Given the description of an element on the screen output the (x, y) to click on. 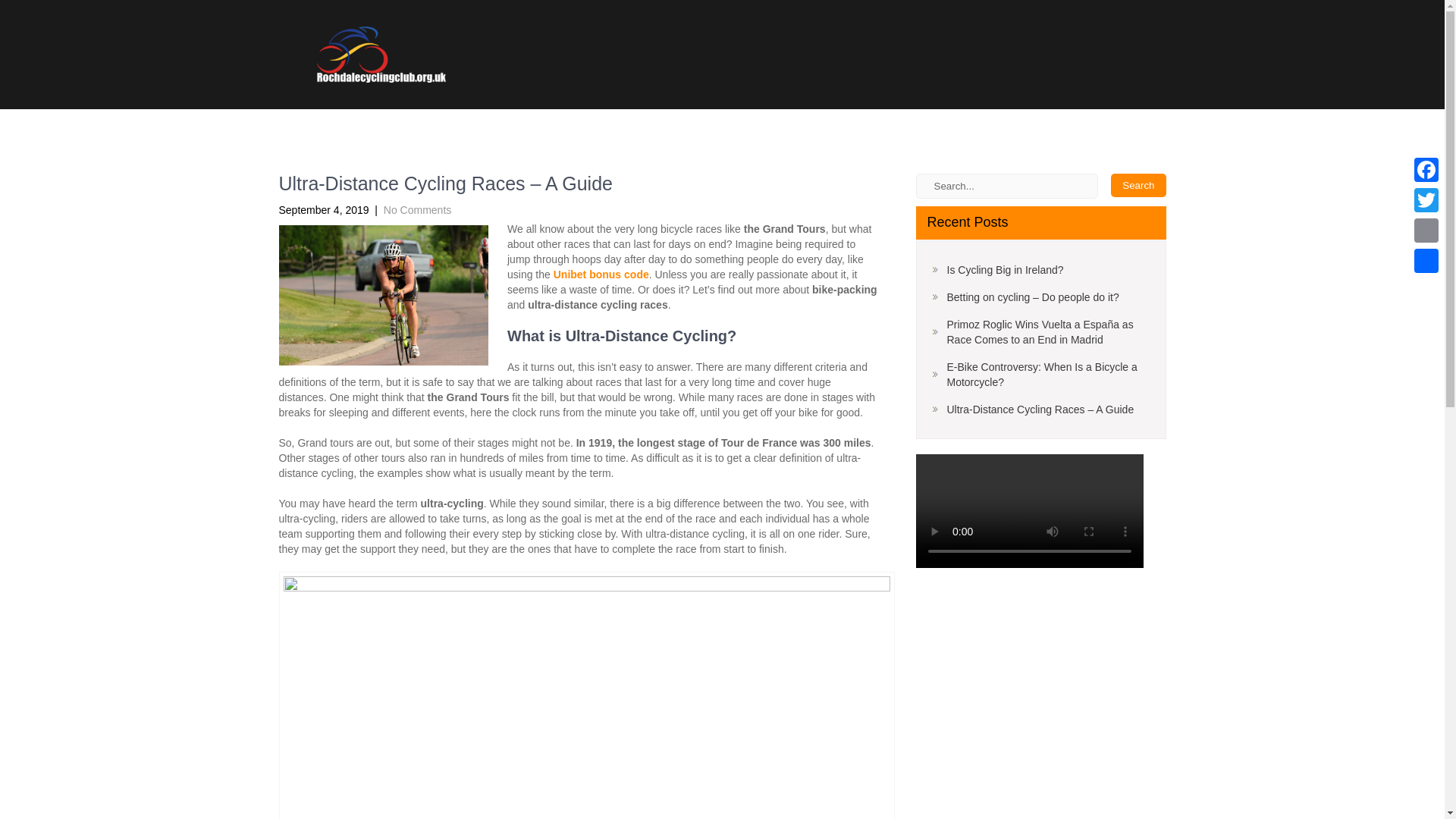
No Comments (417, 209)
Unibet bonus code (601, 274)
Search (1138, 185)
Twitter (1425, 200)
Search (1138, 185)
Email (1425, 230)
Search (1138, 185)
Facebook (1425, 169)
Is Cycling Big in Ireland? (996, 269)
Email (1425, 230)
Twitter (1425, 200)
Facebook (1425, 169)
E-Bike Controversy: When Is a Bicycle a Motorcycle? (1040, 374)
